Given the description of an element on the screen output the (x, y) to click on. 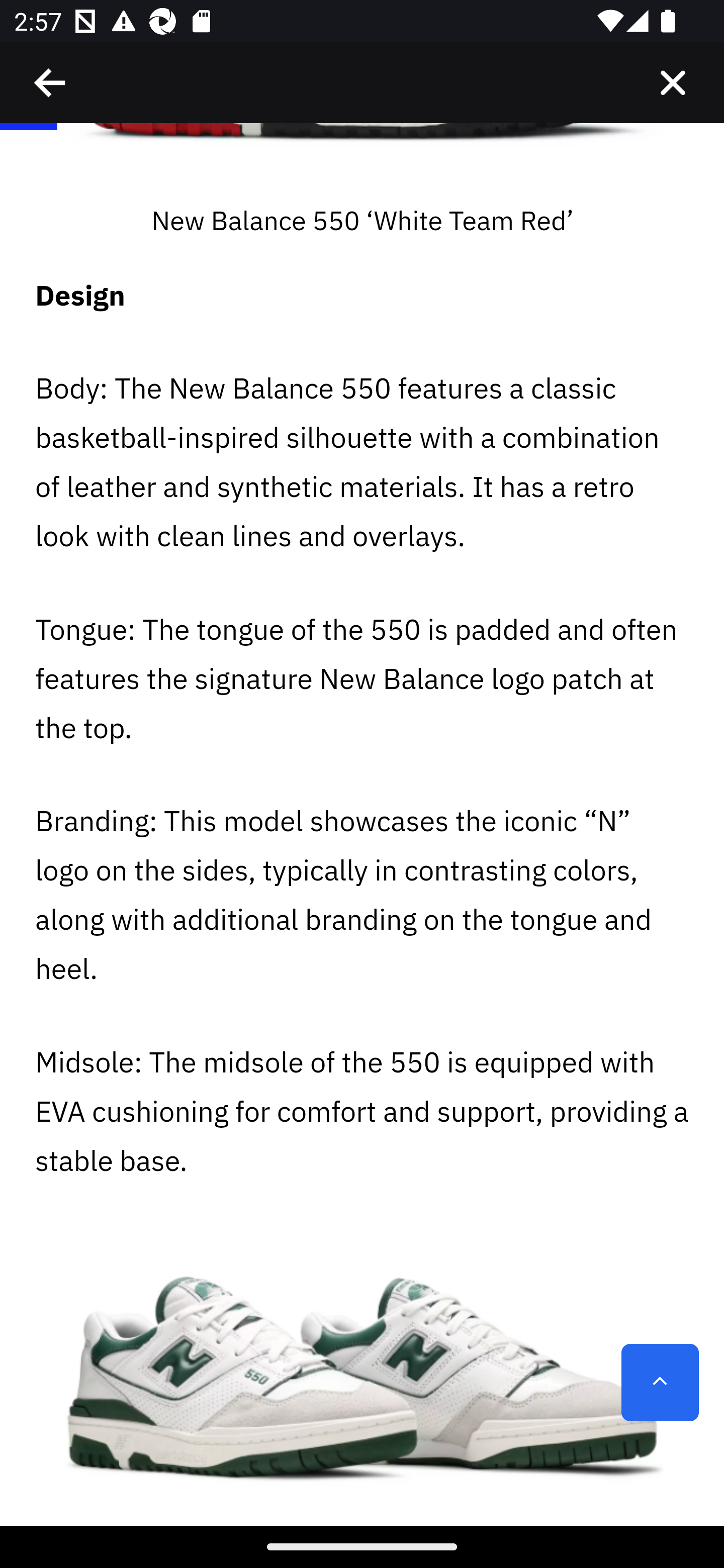
 (50, 83)
 (672, 83)
Scroll to top  (659, 1382)
